Given the description of an element on the screen output the (x, y) to click on. 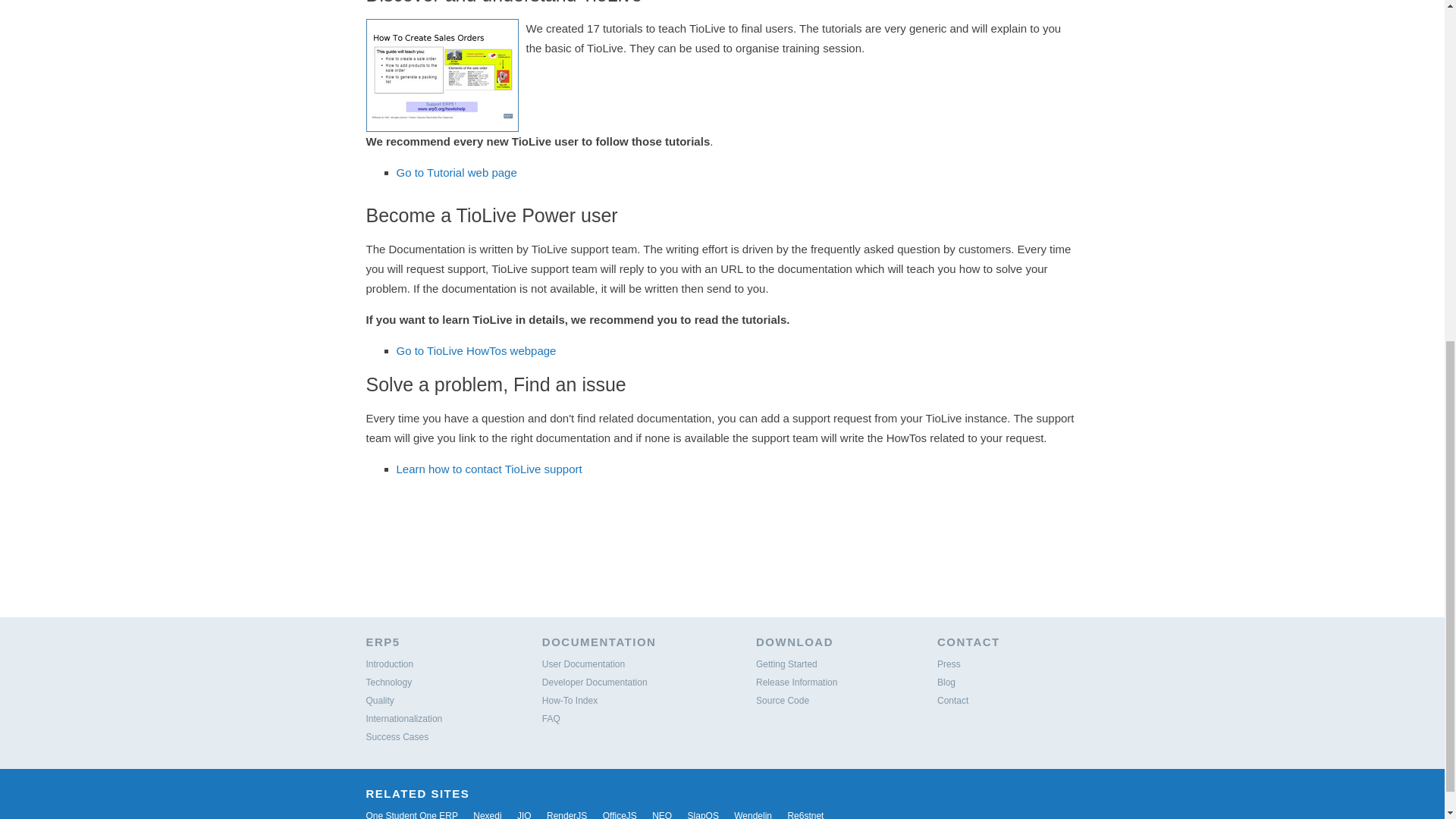
Source Code (782, 700)
Go to Tutorial web page (456, 171)
Internationalization (403, 718)
Press (948, 664)
Contact (952, 700)
Go to TioLive HowTos webpage (476, 350)
Release Information (796, 682)
Getting Started (785, 664)
Quality (379, 700)
Technology (388, 682)
